Given the description of an element on the screen output the (x, y) to click on. 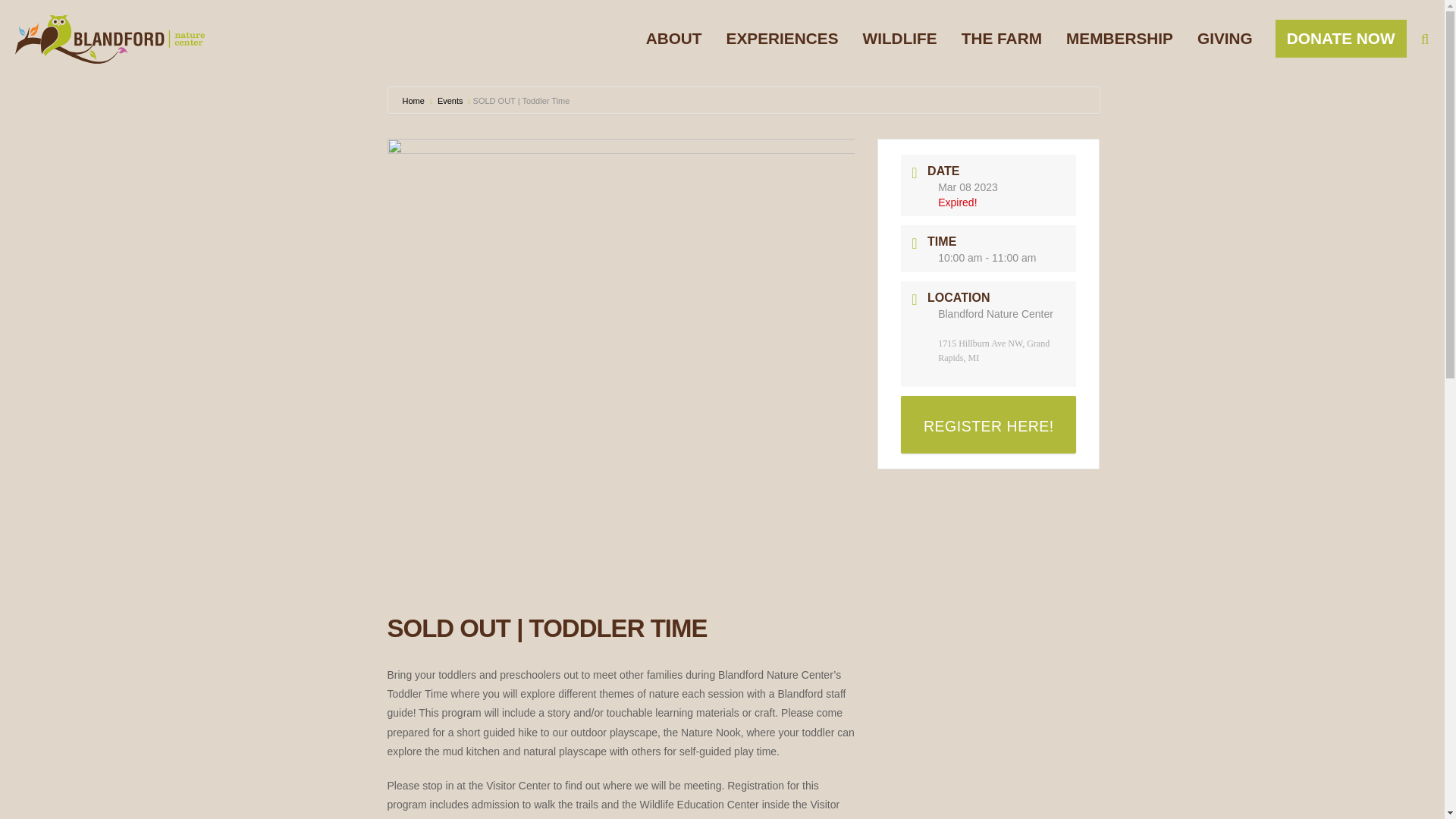
WILDLIFE (898, 38)
MEMBERSHIP (1119, 38)
DONATE NOW (1340, 38)
Search (1397, 39)
EXPERIENCES (782, 38)
ABOUT (673, 38)
Blandford Nature Center (109, 39)
GIVING (1224, 38)
THE FARM (1001, 38)
